Given the description of an element on the screen output the (x, y) to click on. 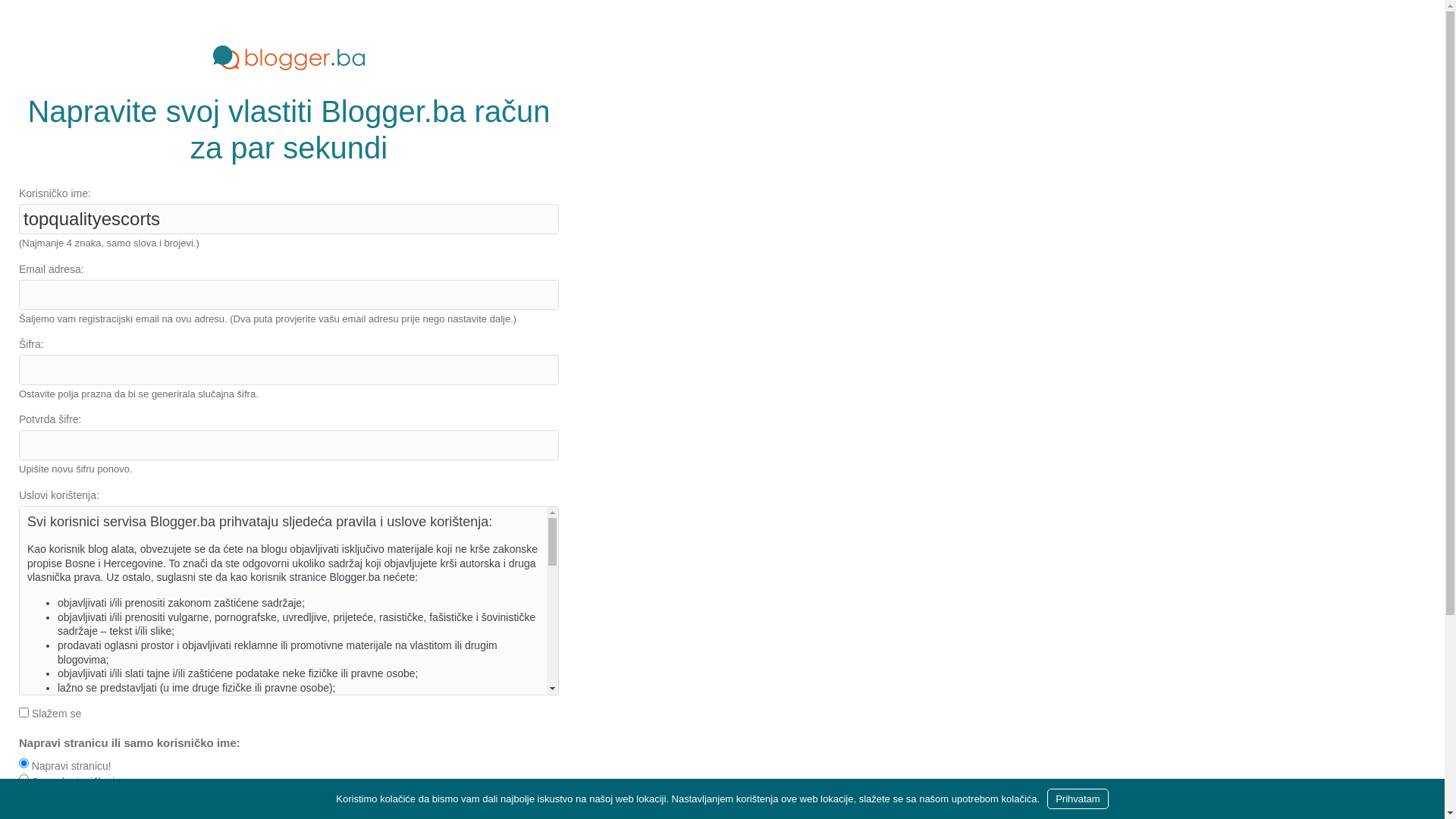
Prihvatam Element type: text (1077, 798)
